Given the description of an element on the screen output the (x, y) to click on. 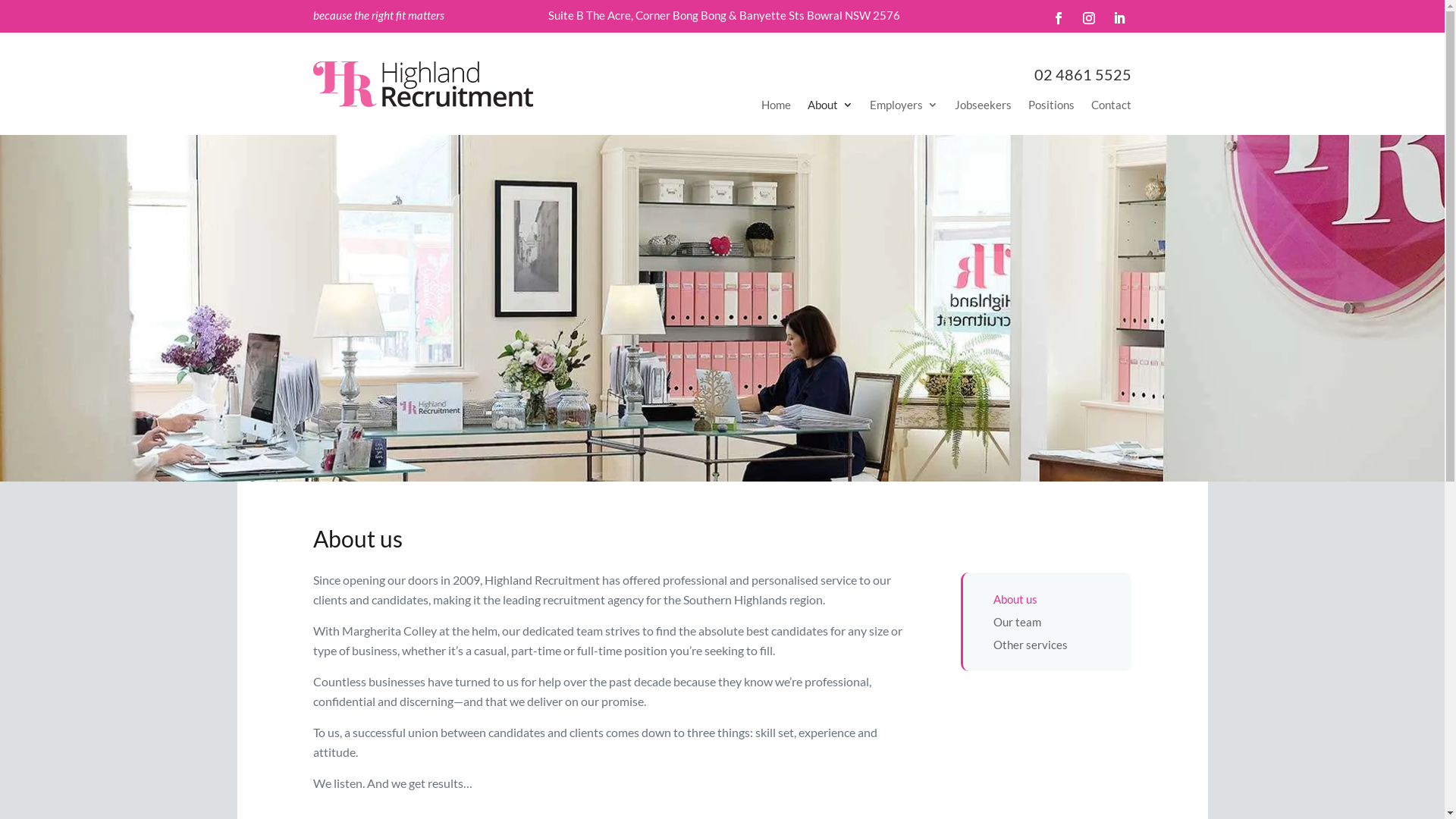
Employers Element type: text (903, 107)
Home Element type: text (775, 107)
Contact Element type: text (1111, 107)
About Element type: text (830, 107)
Our team Element type: text (1017, 624)
Follow on Facebook Element type: hover (1058, 18)
Other services Element type: text (1030, 647)
Follow on Instagram Element type: hover (1088, 18)
Jobseekers Element type: text (982, 107)
Positions Element type: text (1051, 107)
About us Element type: text (1015, 601)
Follow on LinkedIn Element type: hover (1119, 18)
